Given the description of an element on the screen output the (x, y) to click on. 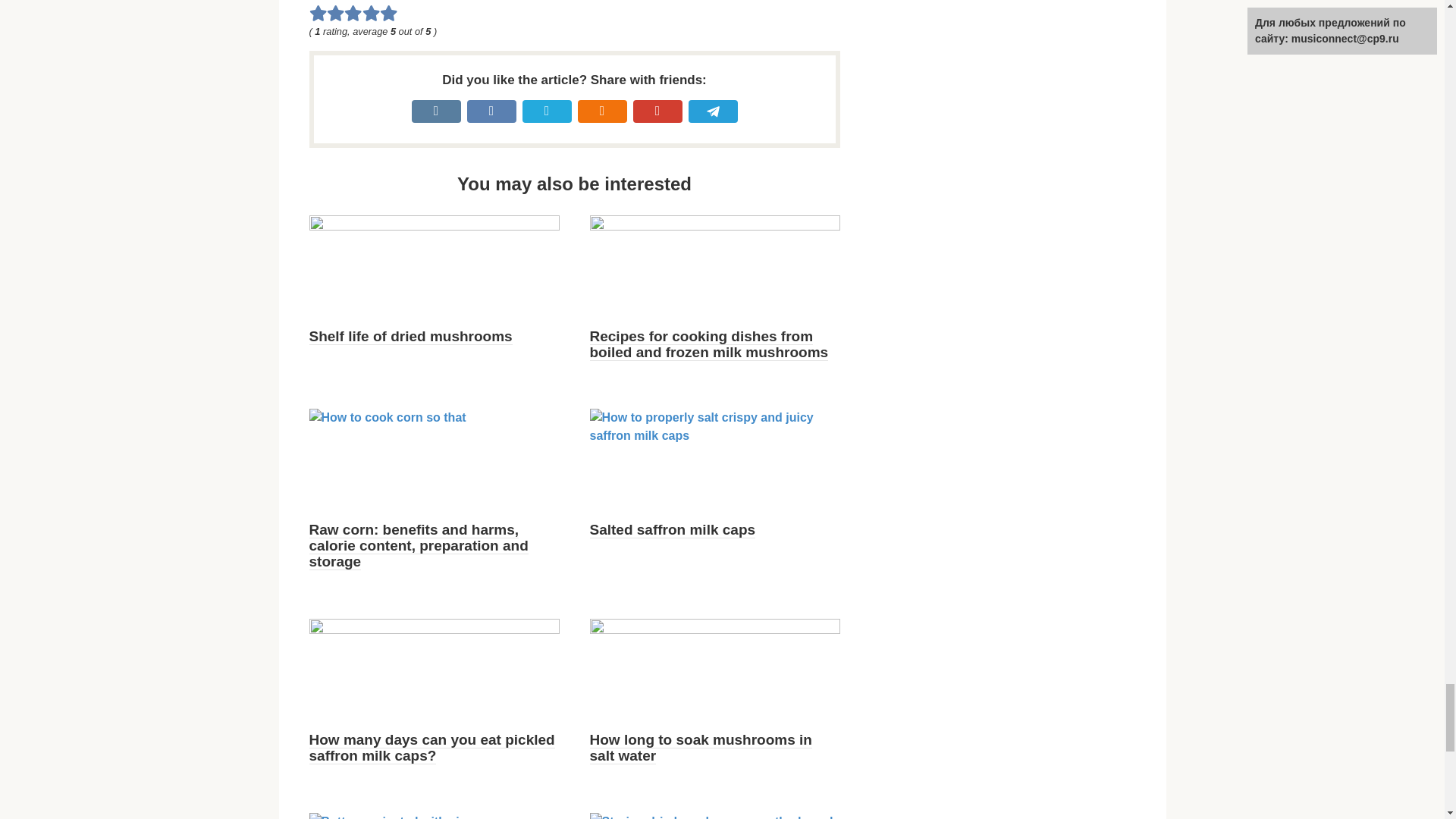
Salted saffron milk caps (672, 529)
Shelf life of dried mushrooms (410, 336)
How many days can you eat pickled saffron milk caps? (431, 748)
How long to soak mushrooms in salt water (700, 748)
